Given the description of an element on the screen output the (x, y) to click on. 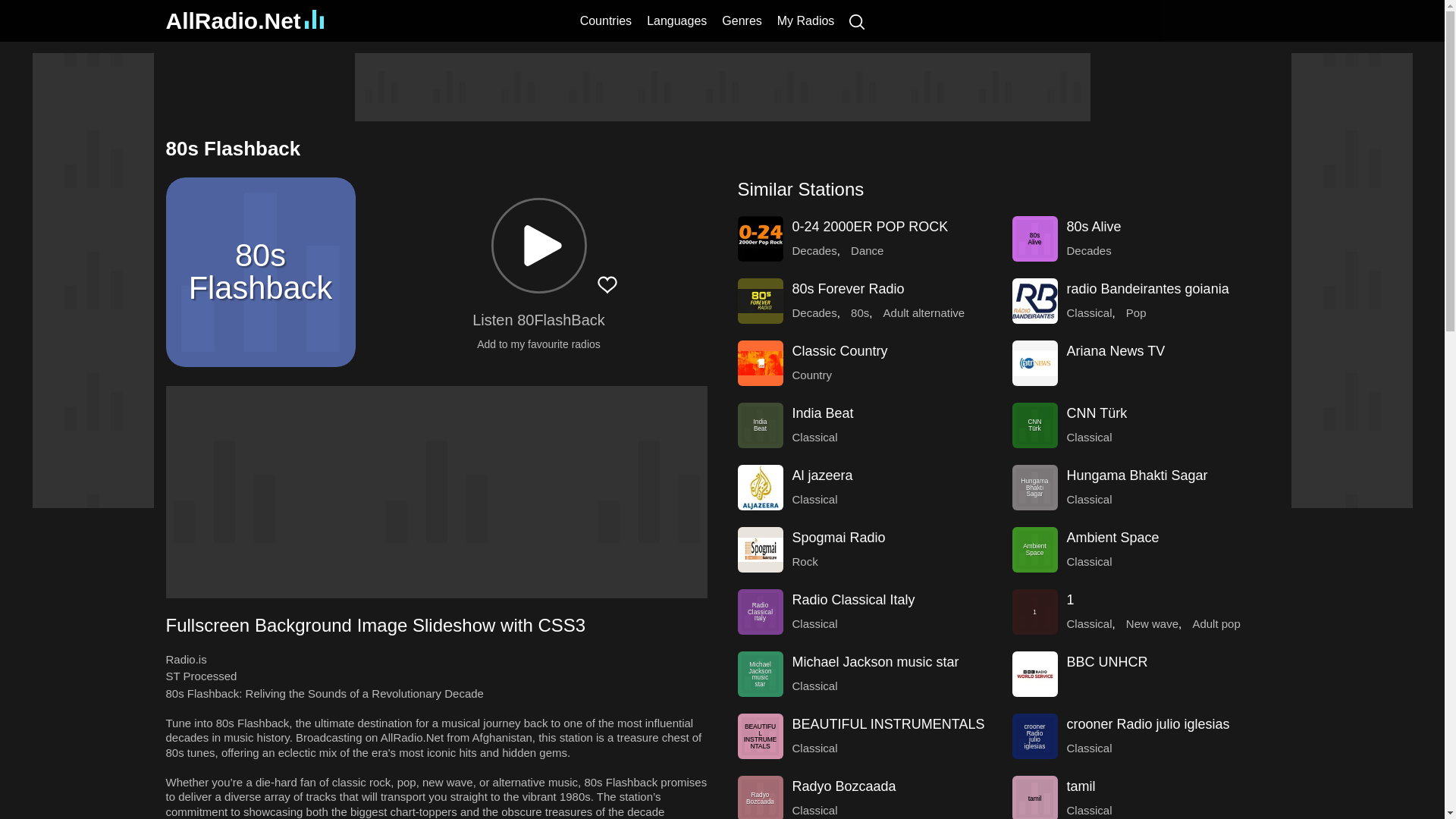
80s Alive (1034, 238)
My Radios (805, 20)
Countries (605, 20)
AllRadio.Net (244, 20)
Ariana News TV (1114, 350)
Dance (866, 250)
80s Forever Radio (848, 288)
Share (469, 283)
India Beat (822, 412)
Decades (813, 312)
